Given the description of an element on the screen output the (x, y) to click on. 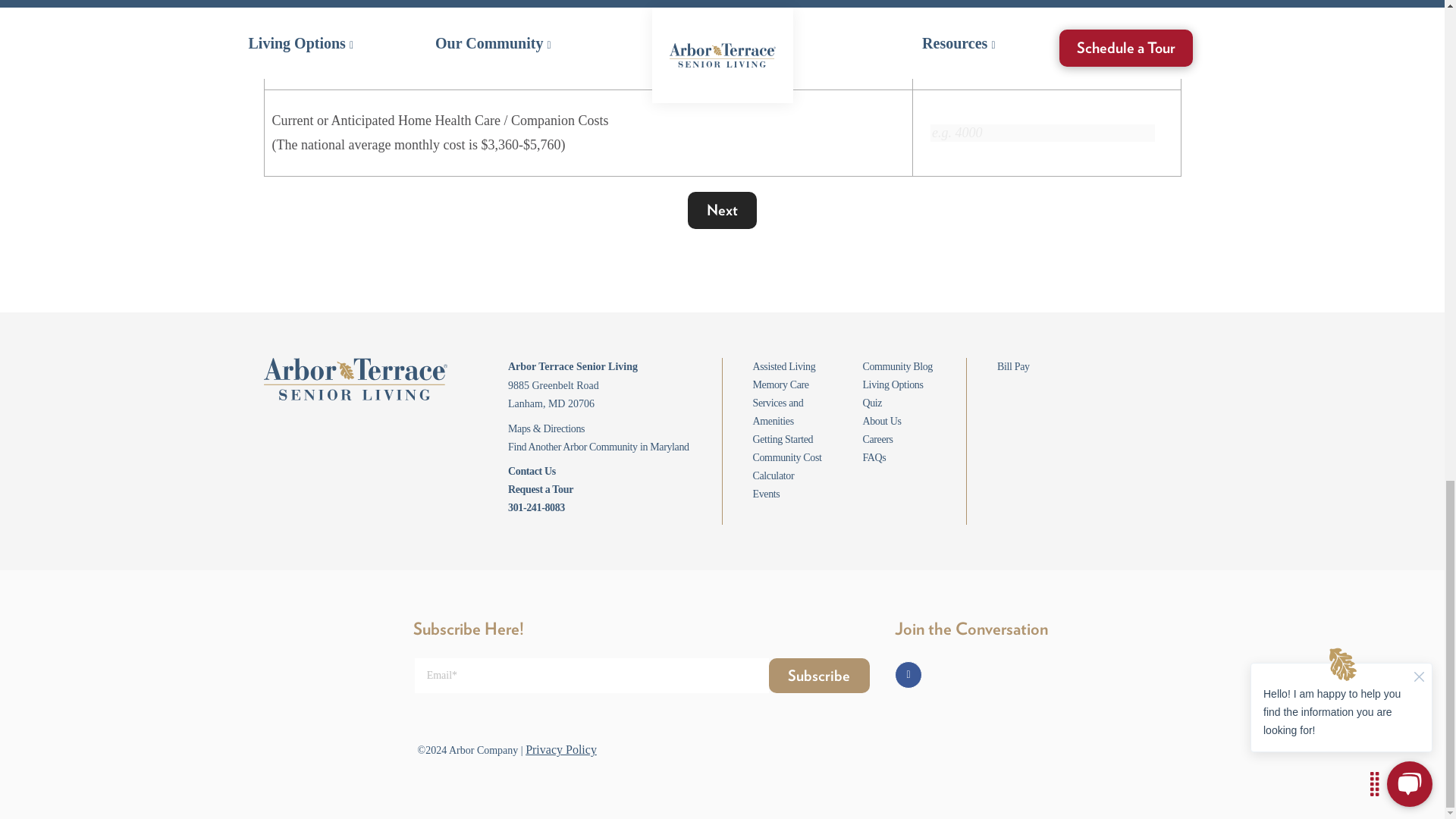
Next (722, 210)
Find Another Arbor Community in Maryland (598, 446)
Subscribe (818, 675)
Request a Tour (540, 489)
Contact Us (532, 471)
Memory Care (780, 384)
301-241-8083 (536, 507)
Assisted Living (783, 366)
